Given the description of an element on the screen output the (x, y) to click on. 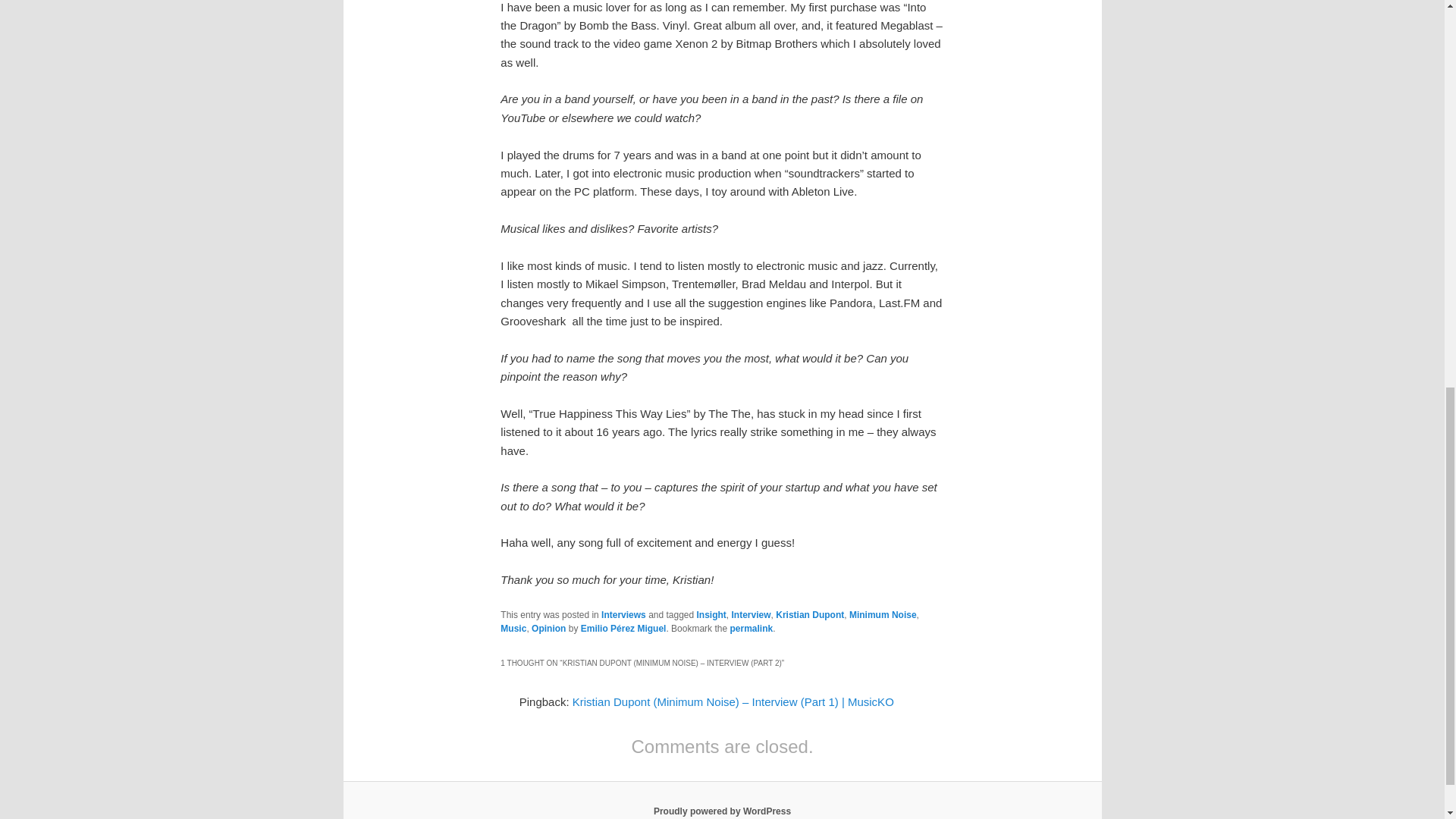
Insight (711, 614)
Kristian Dupont (810, 614)
permalink (751, 628)
Opinion (548, 628)
Music (512, 628)
Semantic Personal Publishing Platform (721, 810)
Proudly powered by WordPress (721, 810)
Interviews (623, 614)
Minimum Noise (882, 614)
Interview (751, 614)
